Given the description of an element on the screen output the (x, y) to click on. 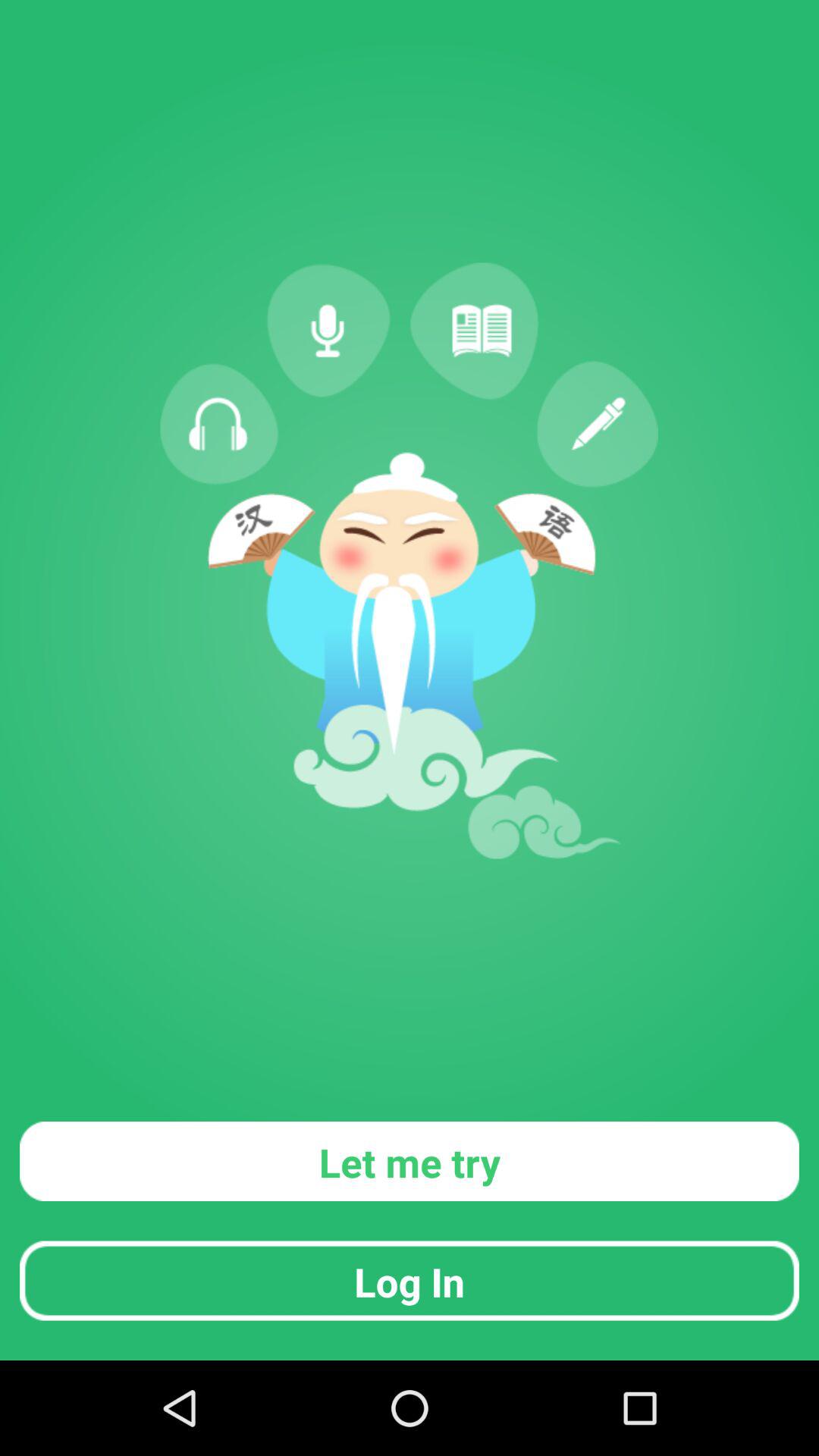
click icon below let me try button (409, 1280)
